Given the description of an element on the screen output the (x, y) to click on. 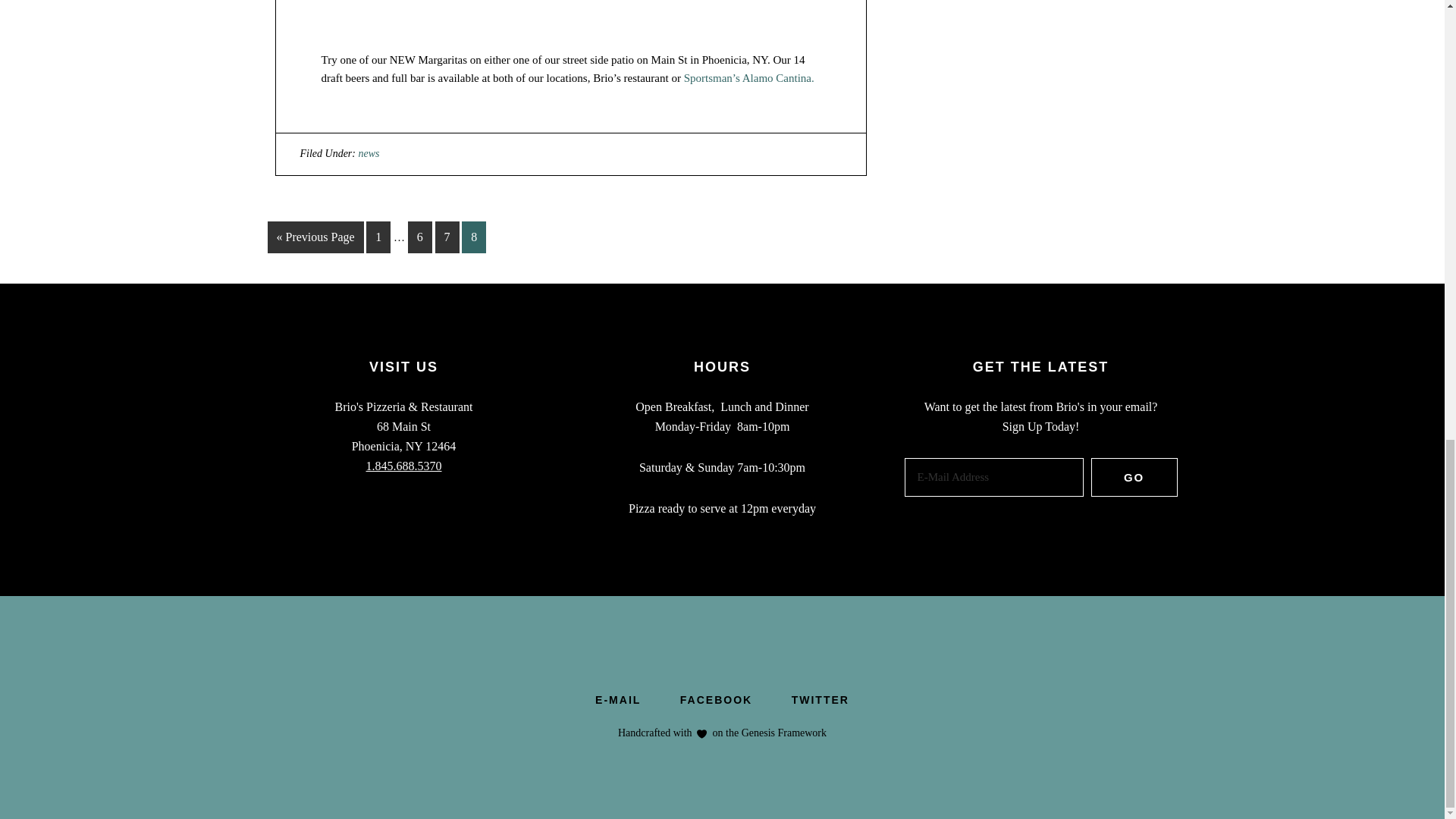
FACEBOOK (716, 699)
Go (1133, 476)
Genesis Framework (782, 732)
TWITTER (820, 699)
news (368, 153)
E-MAIL (617, 699)
Go (1133, 476)
1.845.688.5370 (403, 465)
